Given the description of an element on the screen output the (x, y) to click on. 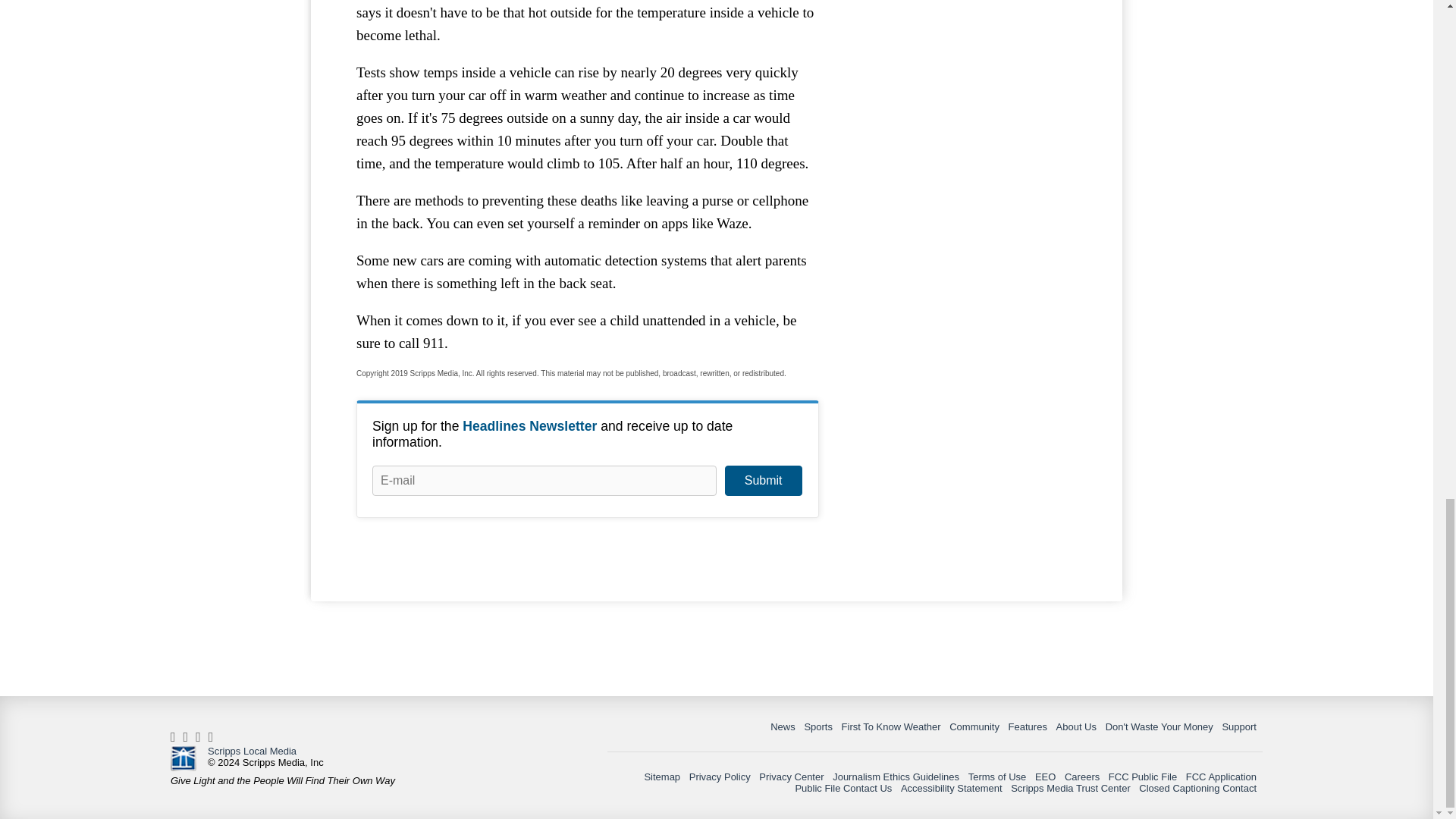
Submit (763, 481)
